Given the description of an element on the screen output the (x, y) to click on. 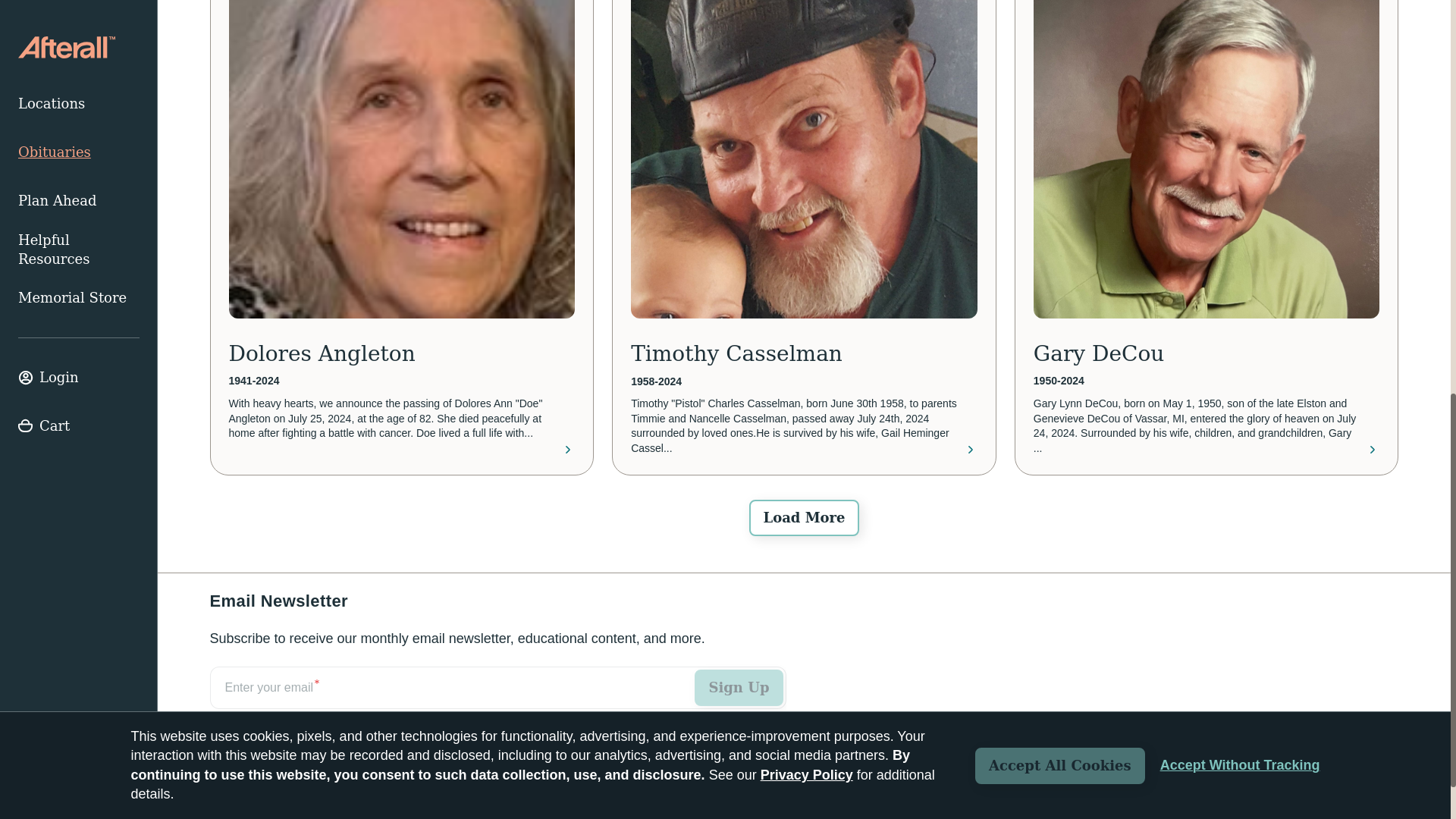
Track an Order (257, 788)
Load More (804, 517)
Sign Up (738, 687)
Email Newsletter (497, 704)
FAQs (341, 788)
